Given the description of an element on the screen output the (x, y) to click on. 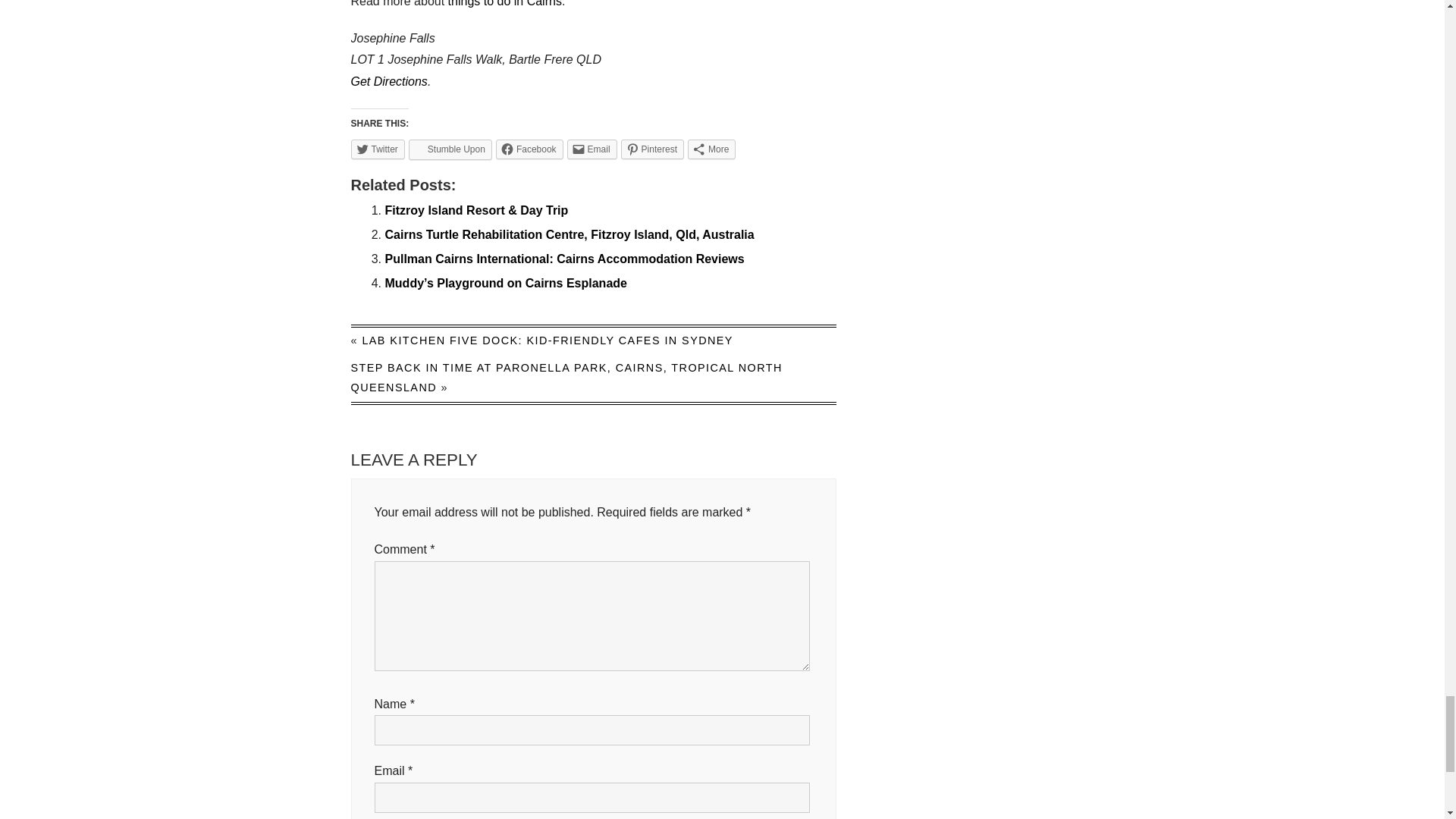
Click to share on Stumble Upon (450, 149)
Click to share on Pinterest (652, 148)
Click to share on Twitter (377, 148)
Click to share on Facebook (529, 148)
Click to email a link to a friend (592, 148)
